Given the description of an element on the screen output the (x, y) to click on. 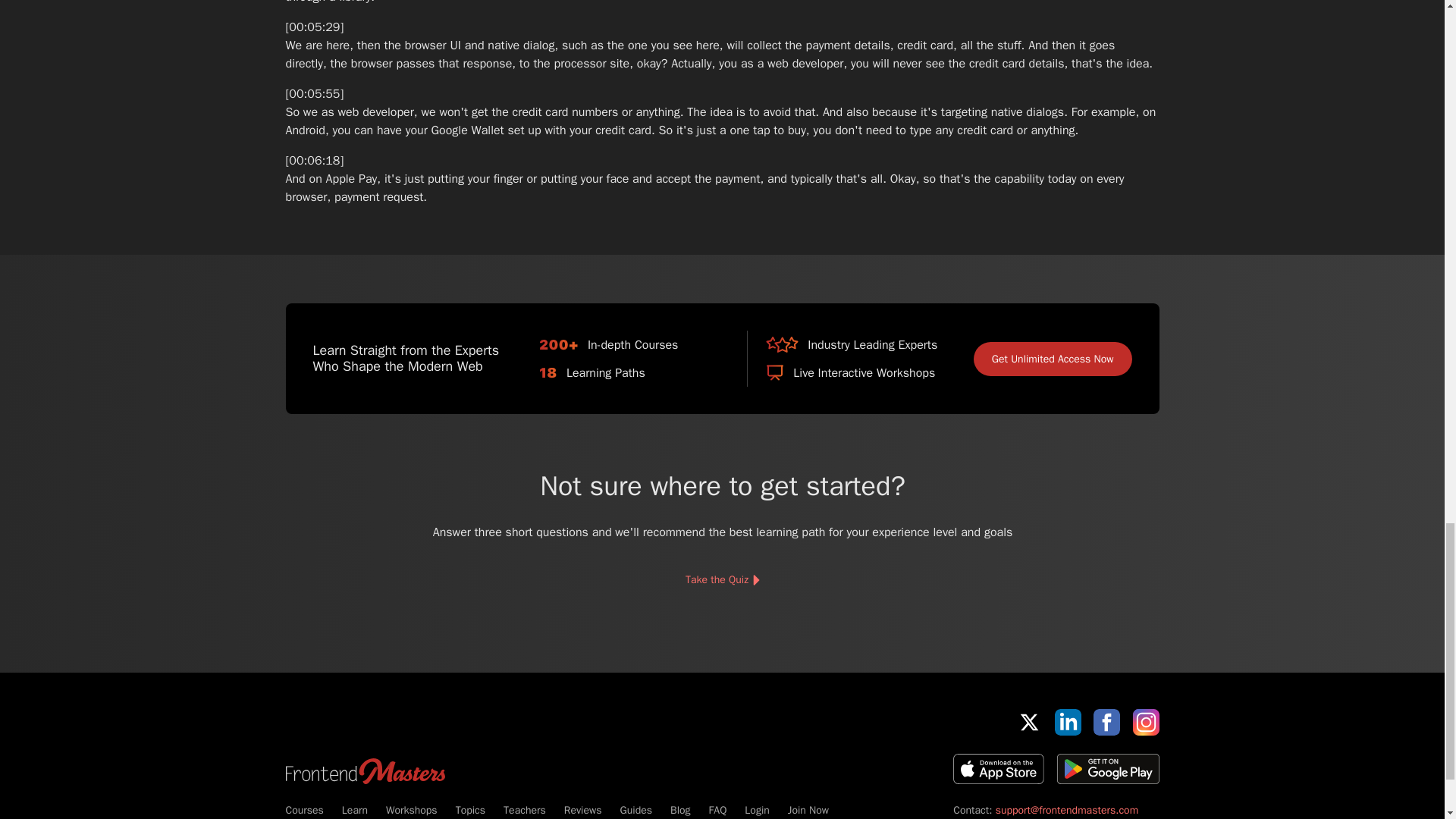
Google App Store (1107, 768)
Take the Quiz (720, 580)
Reviews (583, 809)
Facebook (1106, 722)
Guides (636, 809)
FAQ (717, 809)
Workshops (411, 809)
Login (756, 809)
LinkedIn (1067, 722)
Apple App Store (998, 768)
Get Unlimited Access Now (1053, 358)
Topics (469, 809)
Learn (355, 809)
Courses (304, 809)
Instagram (1145, 722)
